Given the description of an element on the screen output the (x, y) to click on. 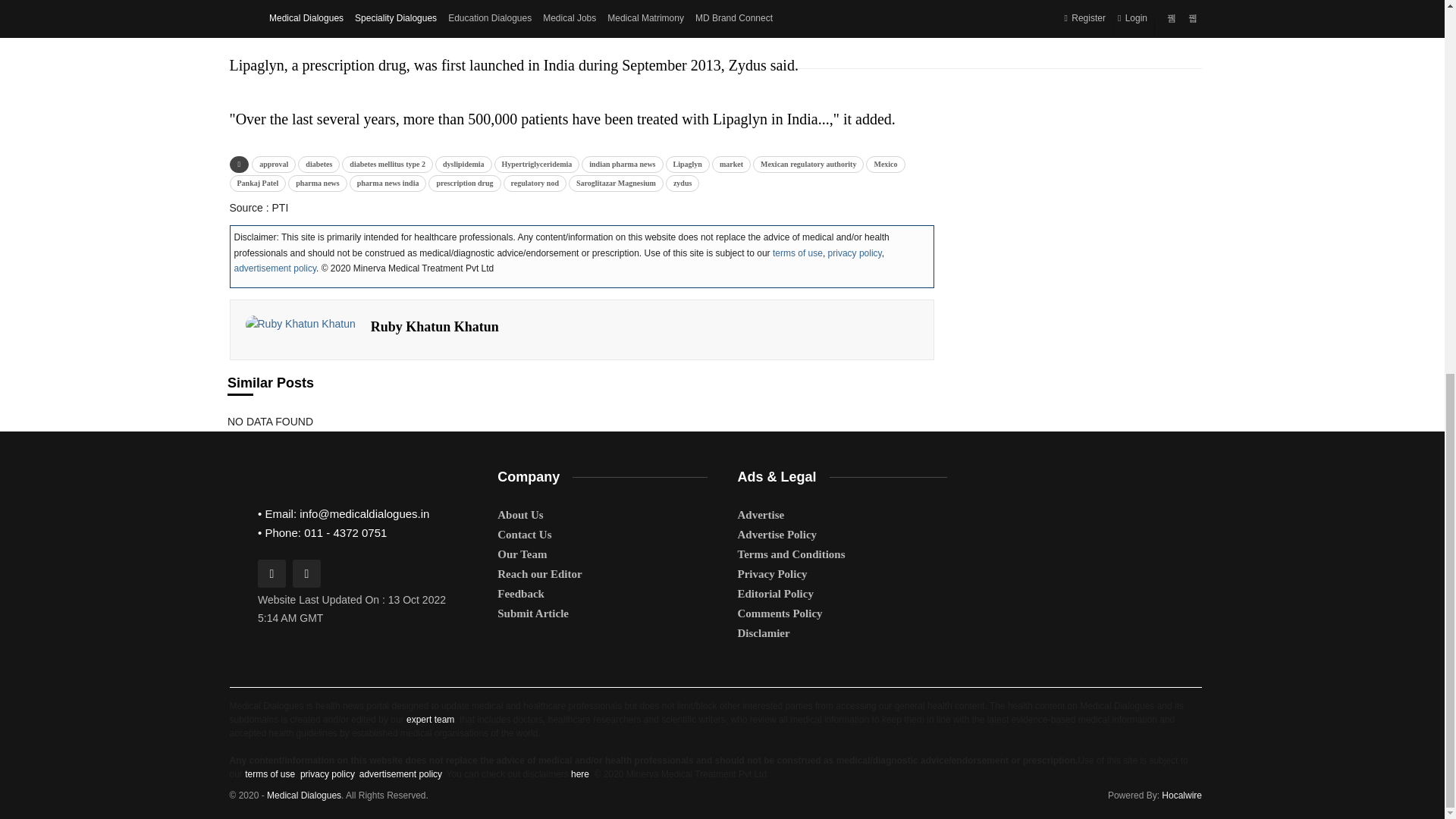
Ruby Khatun Khatun (300, 324)
